Given the description of an element on the screen output the (x, y) to click on. 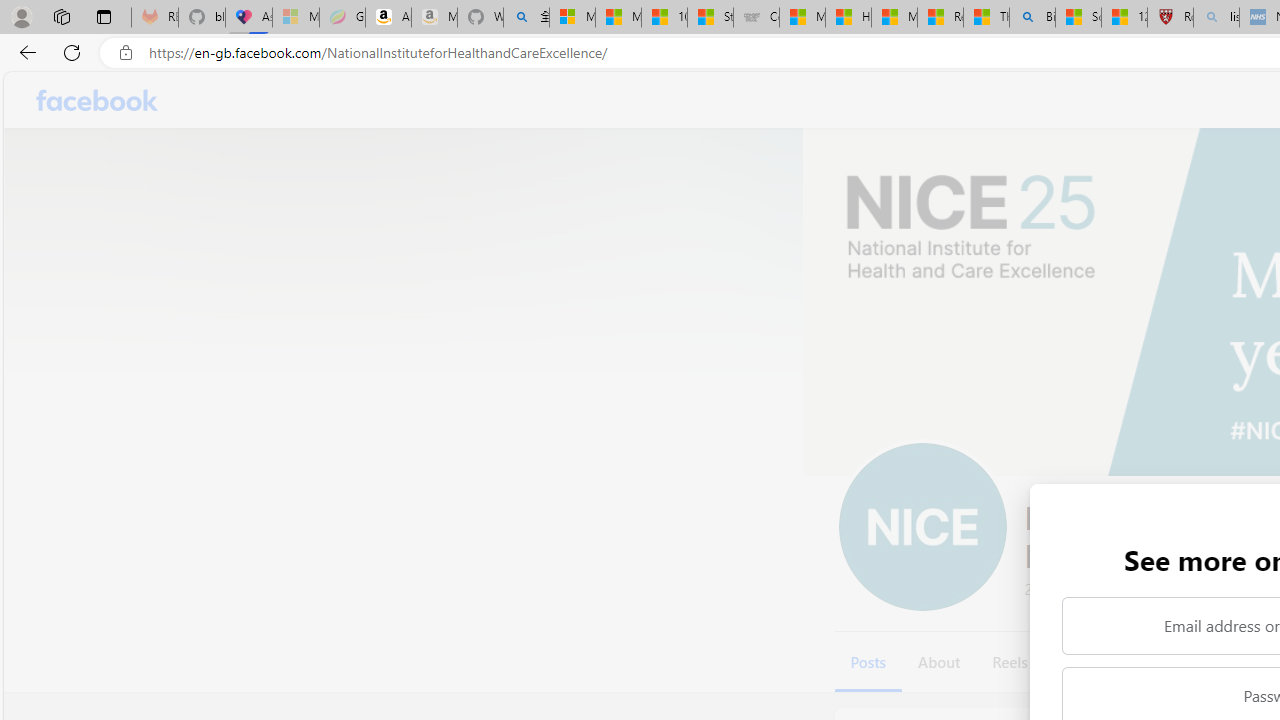
Facebook (97, 99)
